Given the description of an element on the screen output the (x, y) to click on. 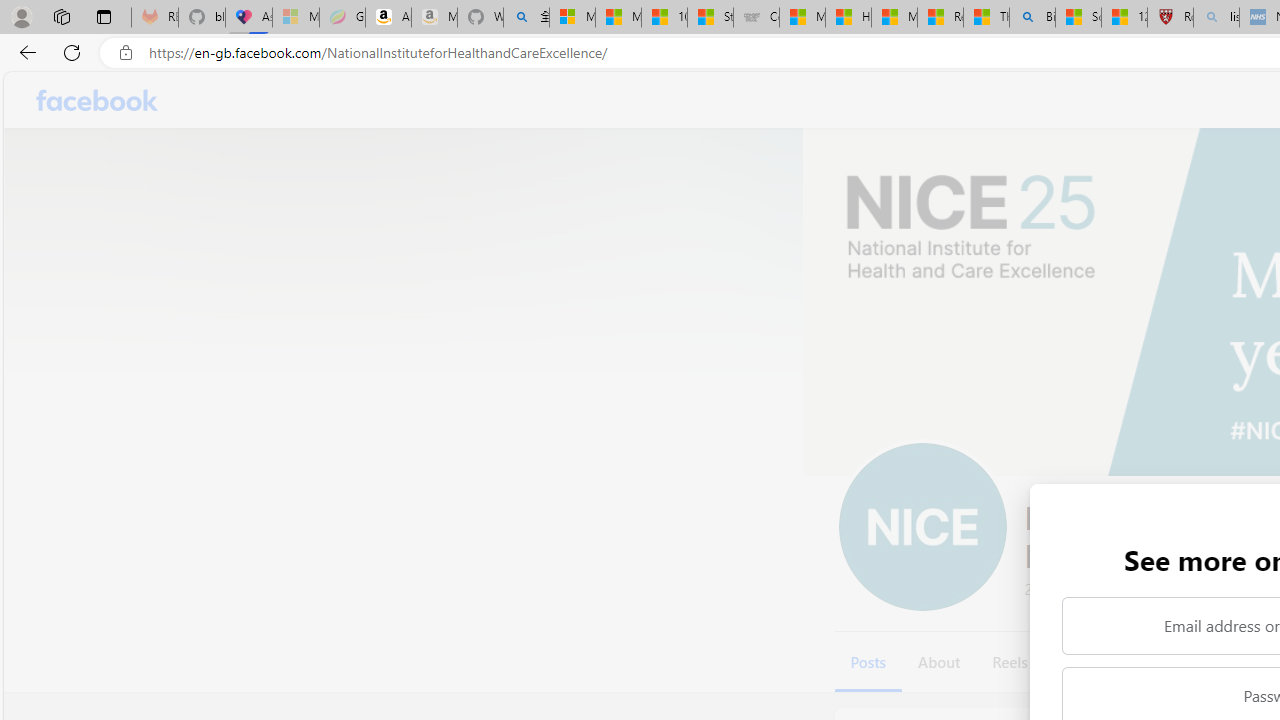
Facebook (97, 99)
